Given the description of an element on the screen output the (x, y) to click on. 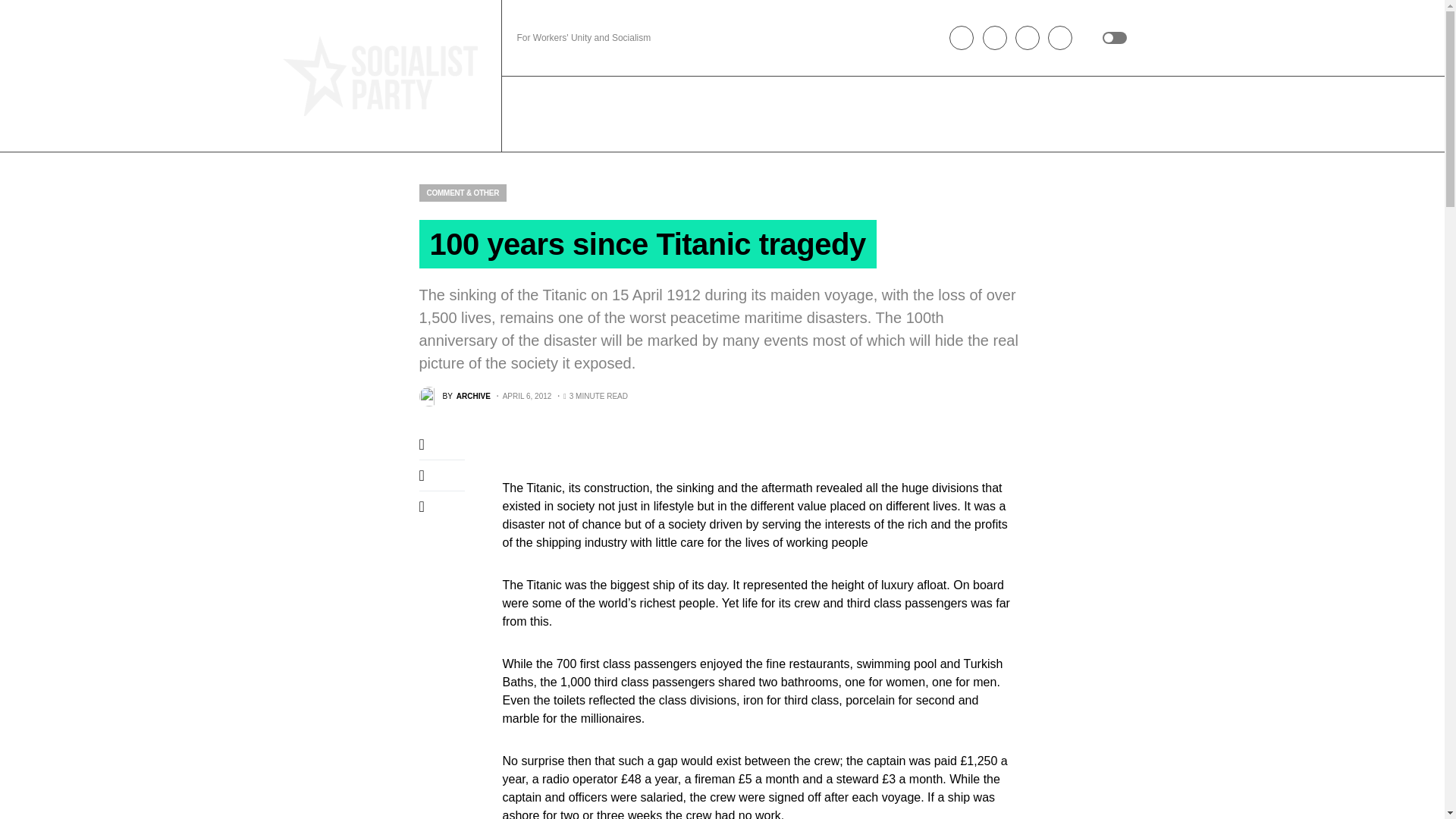
Home (531, 114)
Join (570, 114)
View all posts by Archive (454, 396)
